Given the description of an element on the screen output the (x, y) to click on. 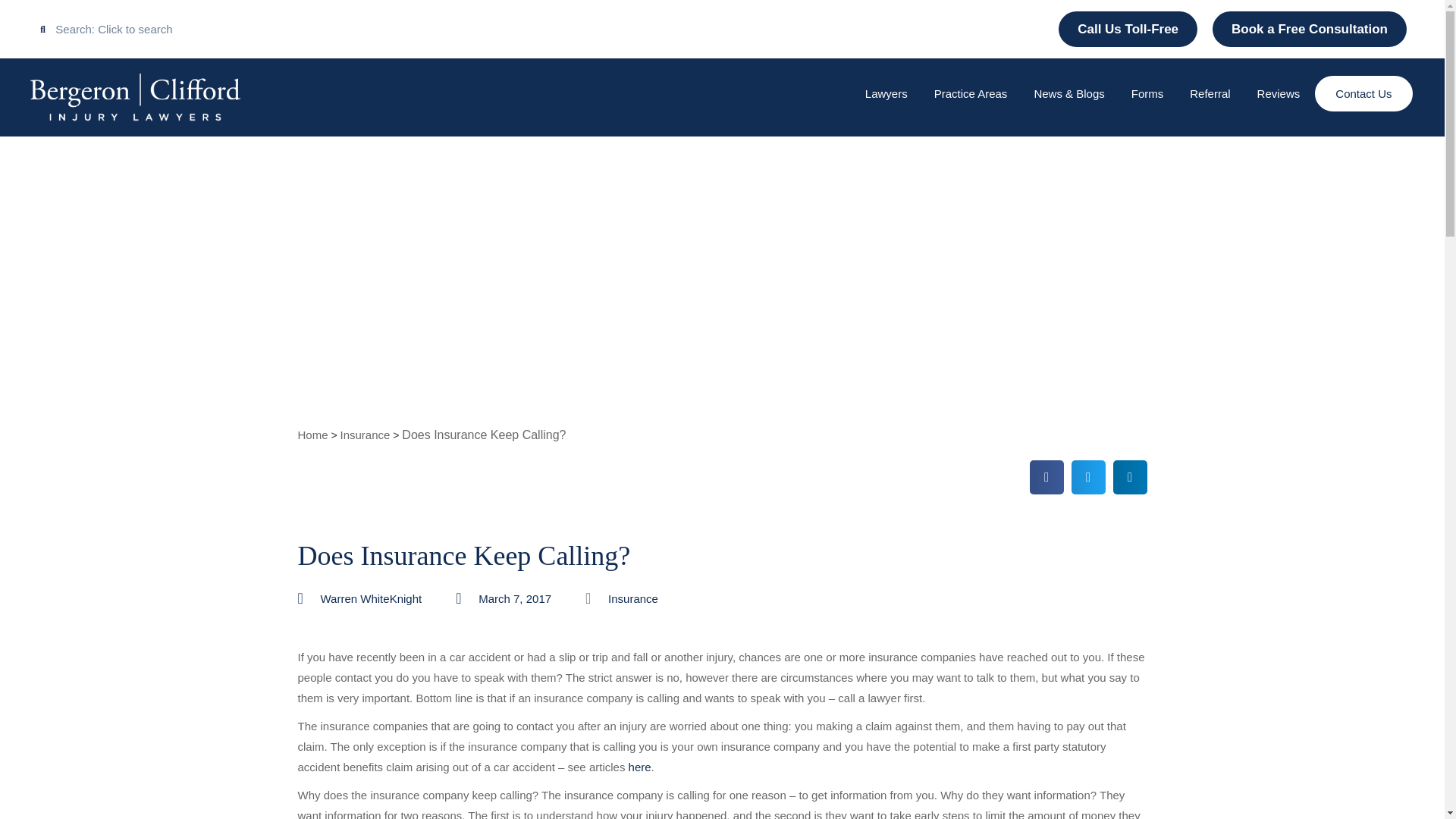
Lawyers (885, 93)
Practice Areas (971, 93)
Call Us Toll-Free (1175, 40)
